Given the description of an element on the screen output the (x, y) to click on. 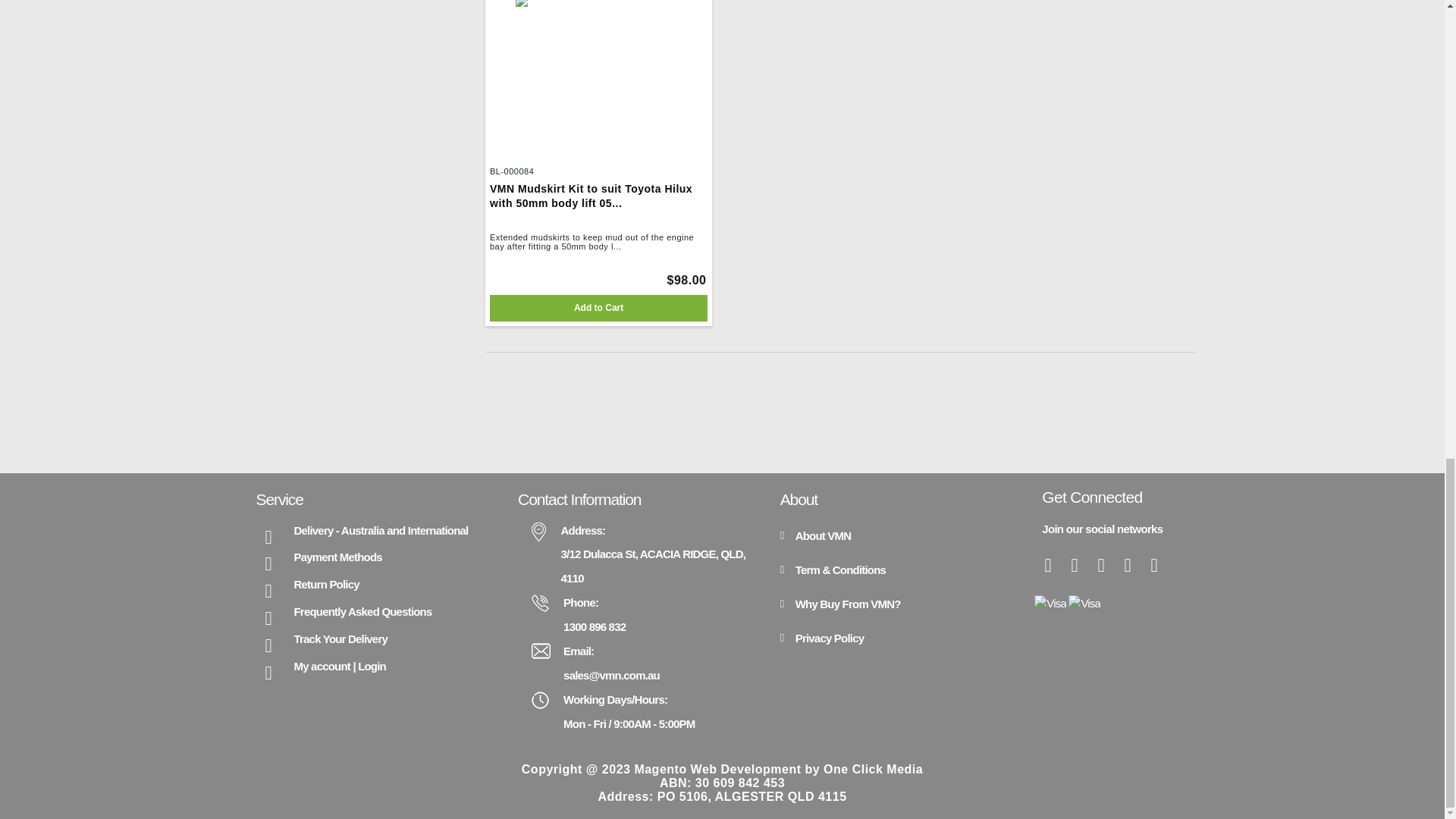
Add (598, 307)
